Given the description of an element on the screen output the (x, y) to click on. 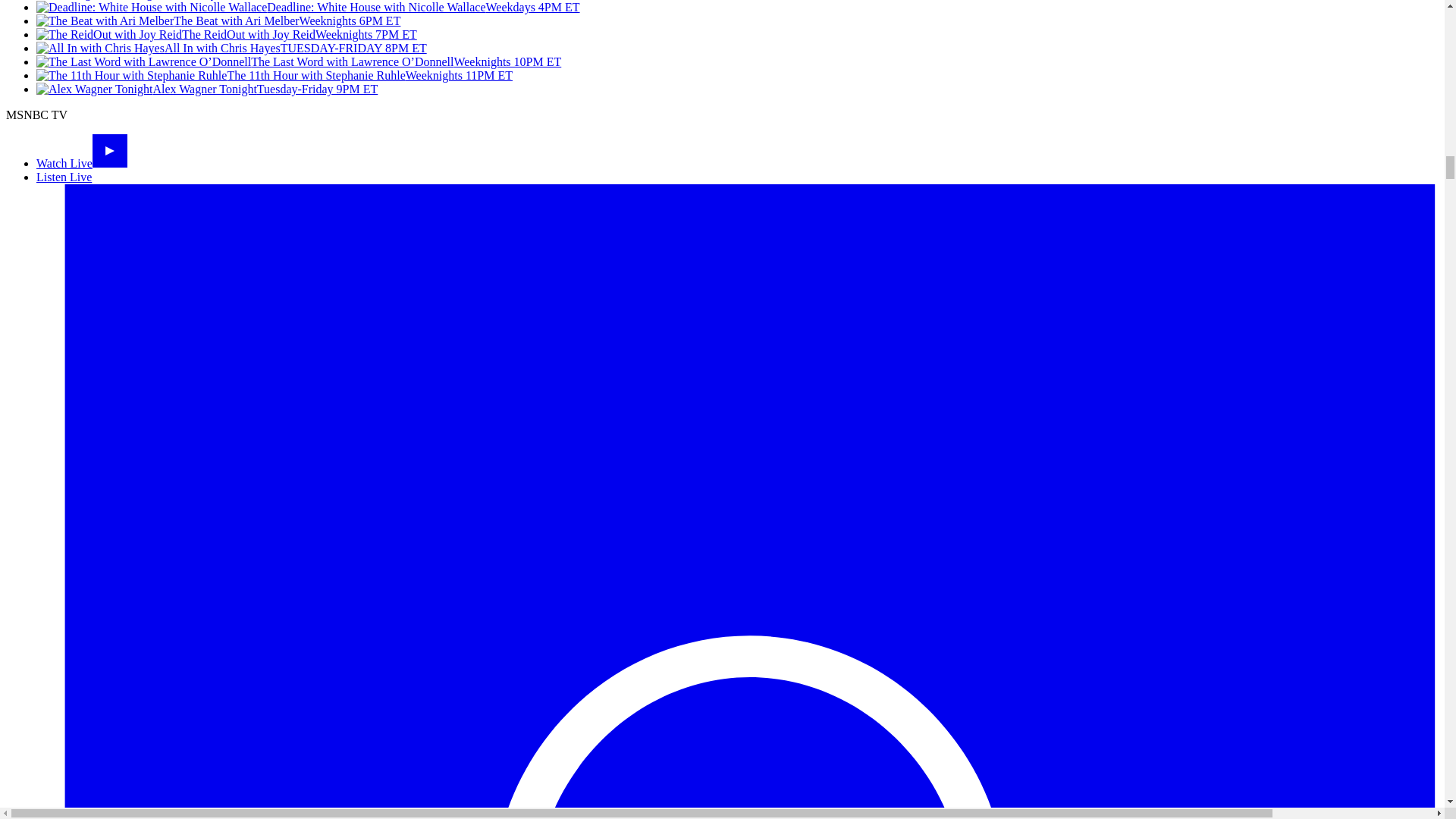
Deadline: White House with Nicolle WallaceWeekdays 4PM ET (307, 6)
Watch Live (82, 163)
The Beat with Ari MelberWeeknights 6PM ET (218, 20)
Alex Wagner TonightTuesday-Friday 9PM ET (206, 88)
All In with Chris HayesTUESDAY-FRIDAY 8PM ET (231, 47)
The ReidOut with Joy ReidWeeknights 7PM ET (226, 33)
The 11th Hour with Stephanie RuhleWeeknights 11PM ET (274, 74)
